Given the description of an element on the screen output the (x, y) to click on. 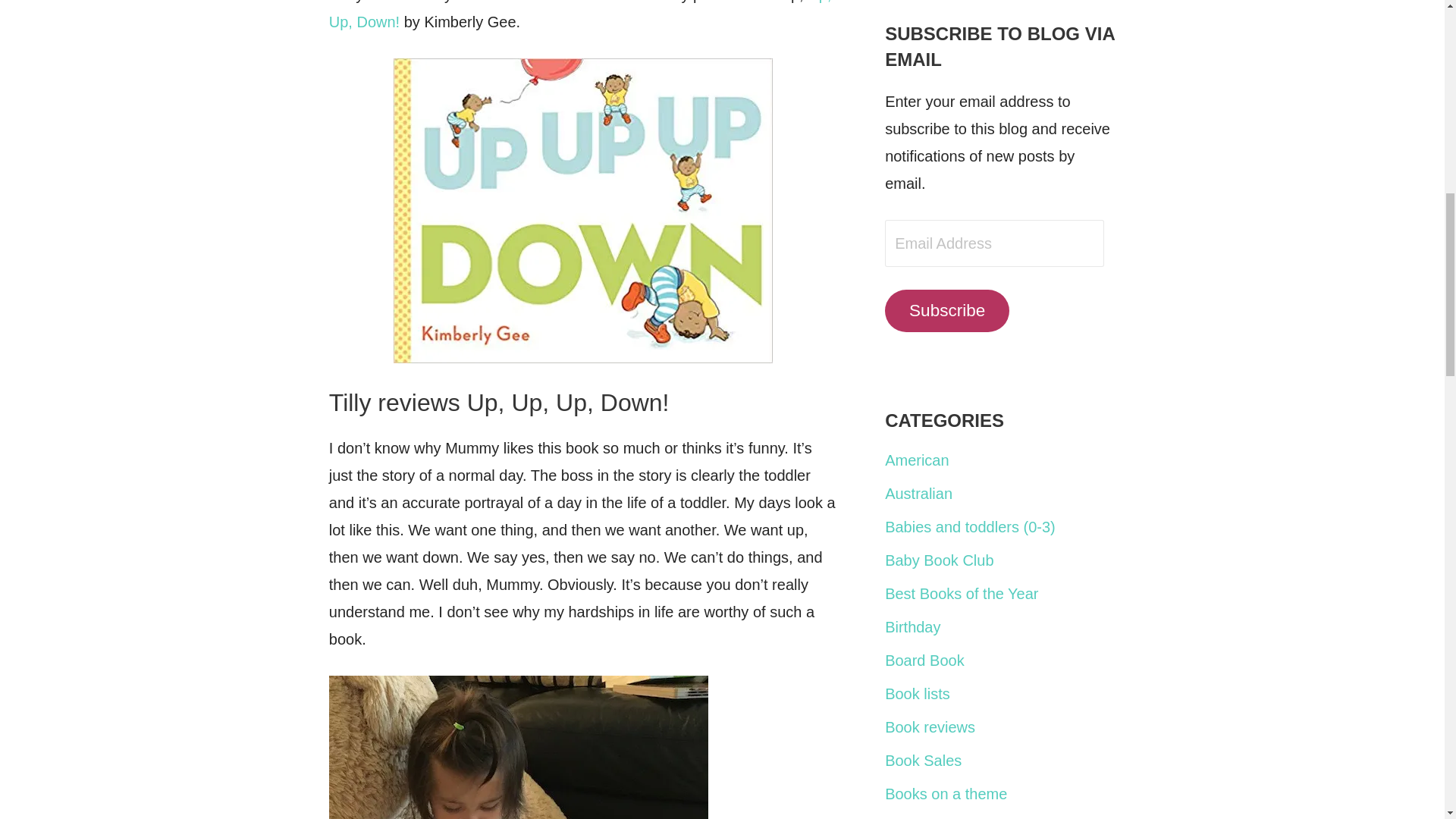
Book lists (917, 693)
American (917, 460)
Book reviews (930, 727)
Subscribe (947, 310)
Board Book (924, 660)
Birthday (912, 627)
Up, Up, Down! (580, 15)
Baby Book Club (938, 560)
Best Books of the Year (961, 593)
Australian (918, 493)
